Given the description of an element on the screen output the (x, y) to click on. 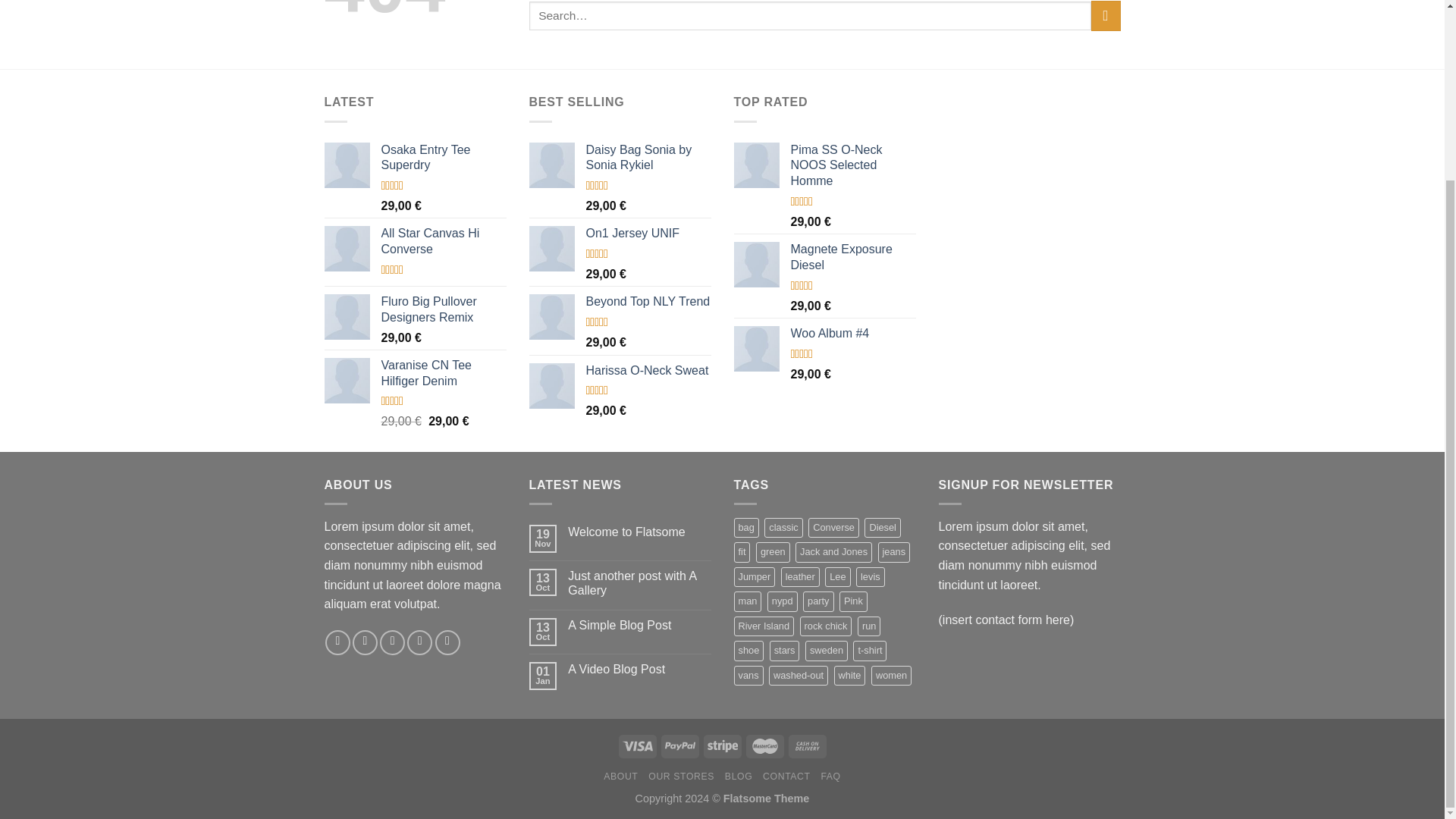
A Simple Blog Post (638, 625)
Follow on Twitter (392, 642)
Follow on Pinterest (447, 642)
Just another post with A Gallery (638, 582)
A Video Blog Post (638, 668)
Follow on Instagram (364, 642)
Welcome to Flatsome (638, 531)
Send us an email (419, 642)
Follow on Facebook (337, 642)
